Given the description of an element on the screen output the (x, y) to click on. 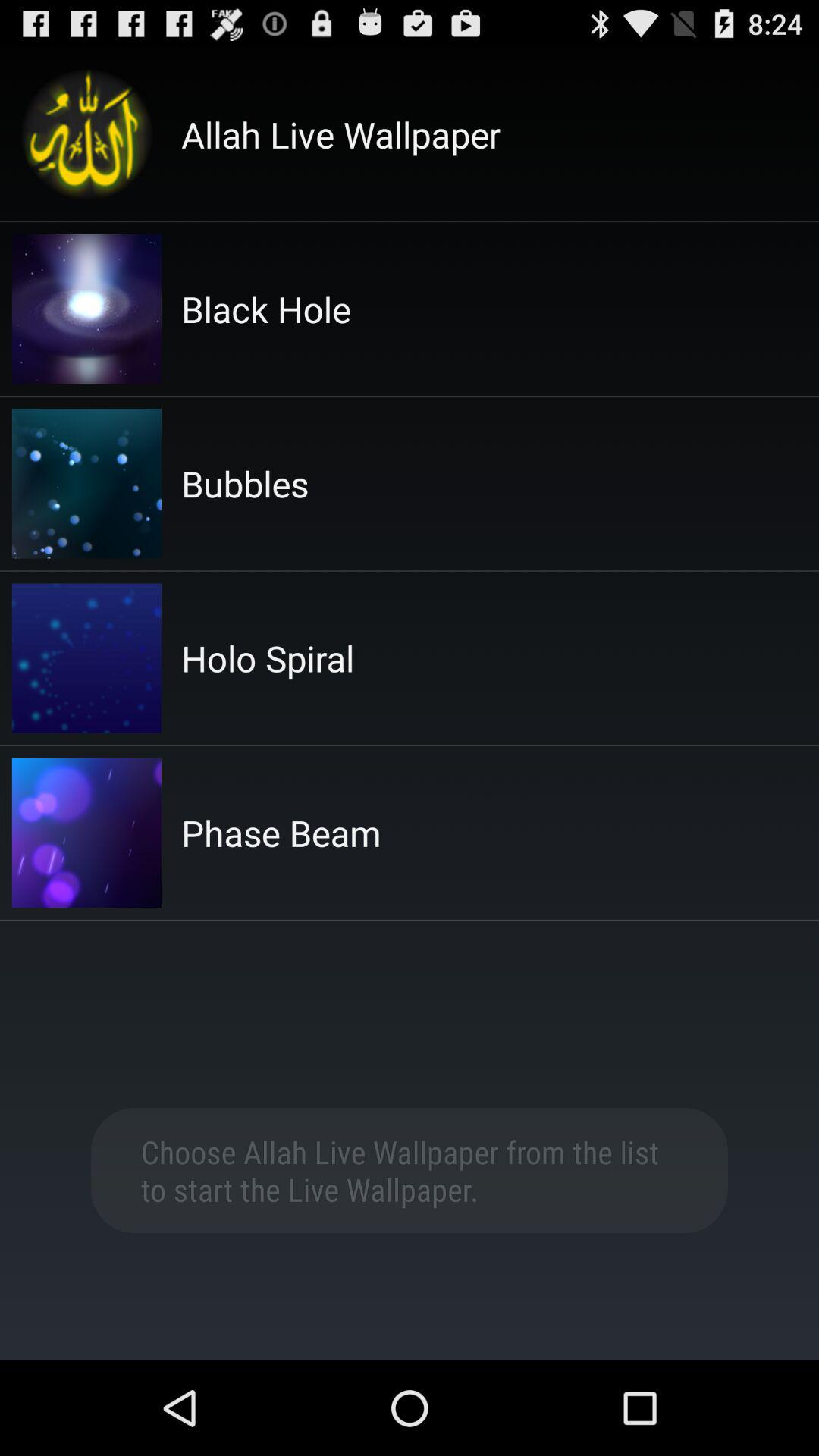
click the icon below the black hole icon (244, 483)
